Given the description of an element on the screen output the (x, y) to click on. 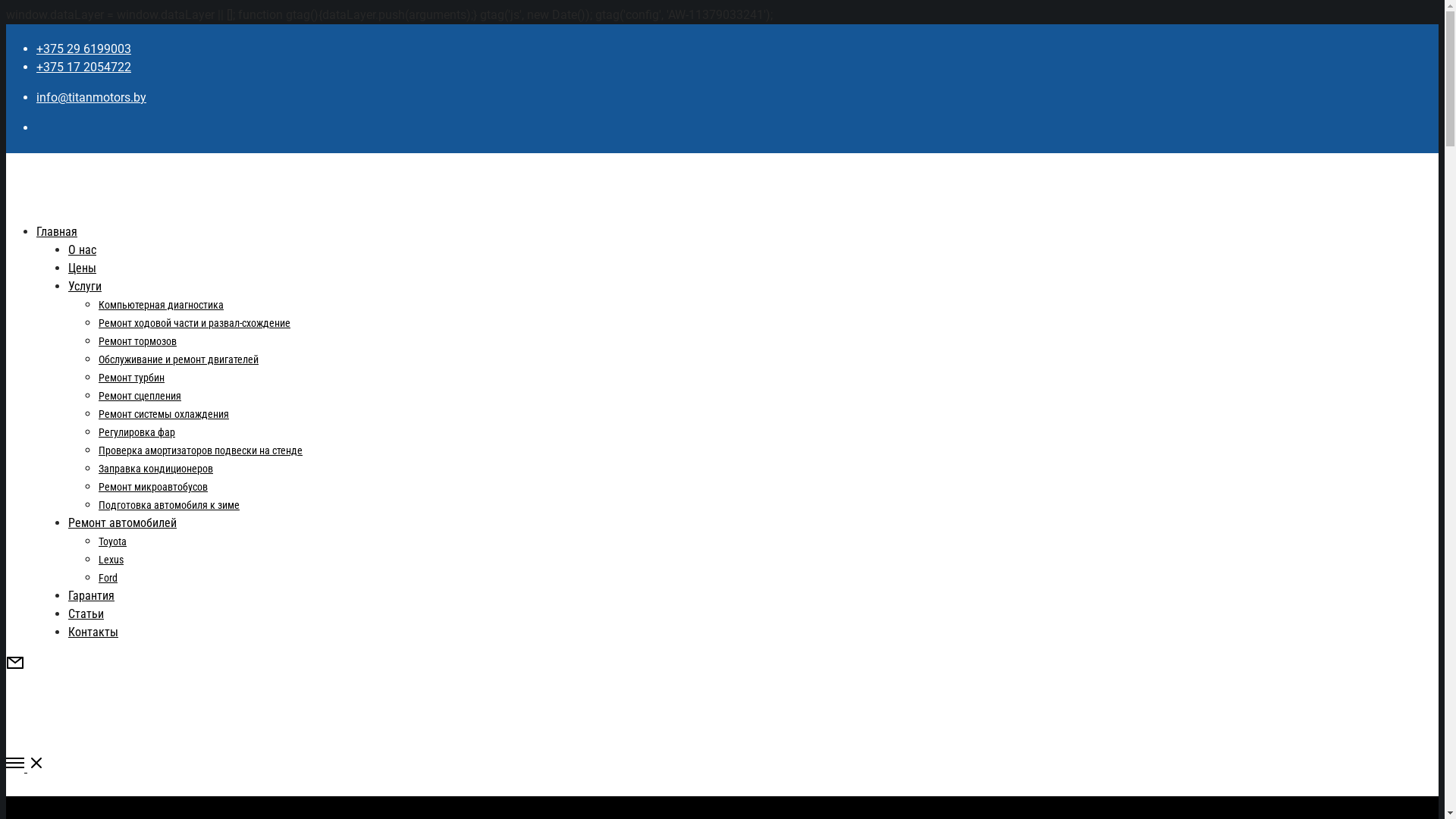
Ford Element type: text (107, 577)
Close Element type: text (15, 810)
Toggle form modal Element type: text (15, 667)
+375 17 2054722 Element type: text (83, 66)
Lexus Element type: text (110, 559)
info@titanmotors.by Element type: text (91, 97)
Open Menu Element type: text (722, 765)
+375 29 6199003 Element type: text (83, 48)
Toyota Element type: text (112, 541)
